Given the description of an element on the screen output the (x, y) to click on. 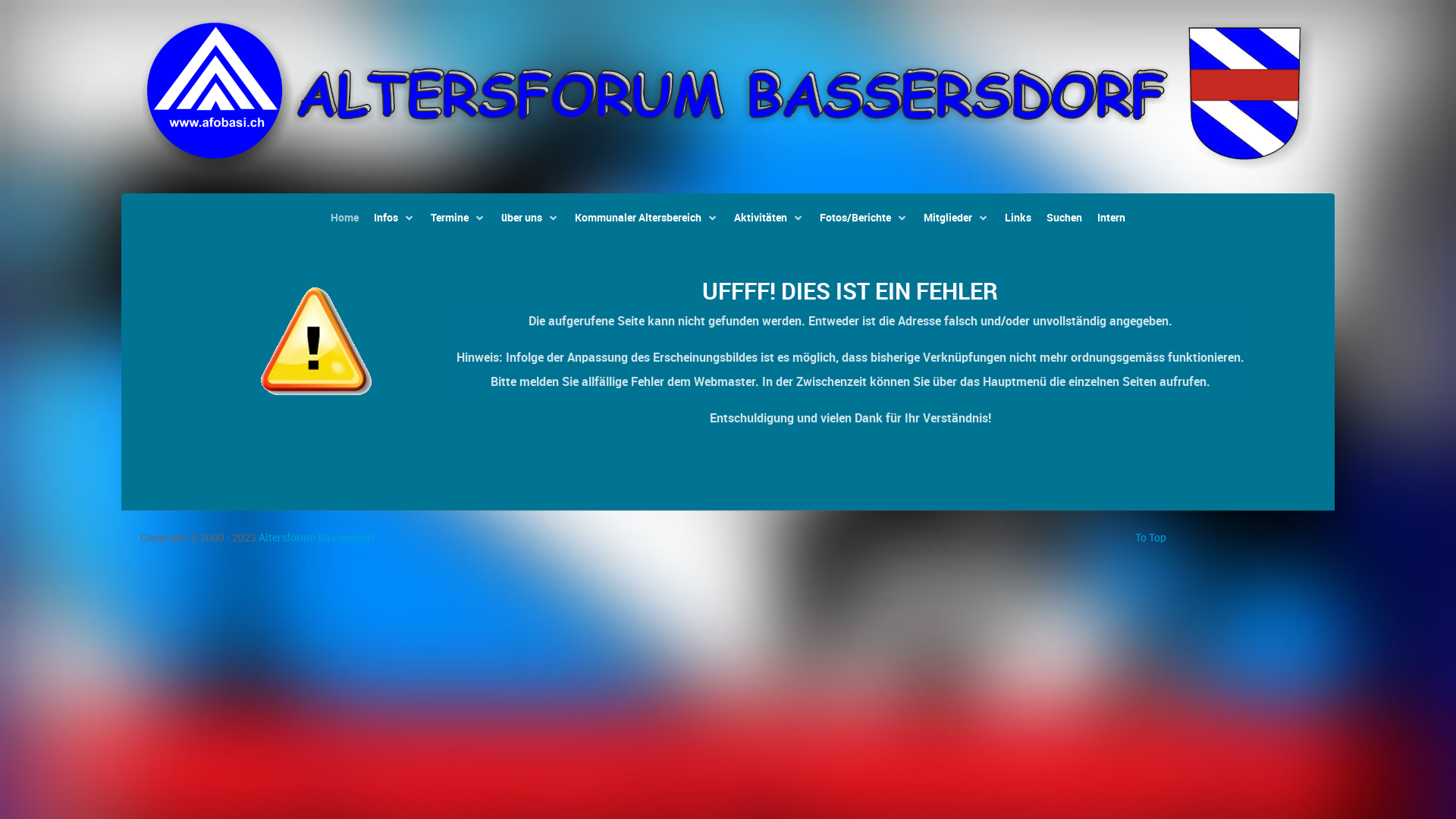
To Top Element type: text (1150, 537)
Kommunaler Altersbereich Element type: text (646, 218)
Intern Element type: text (1111, 217)
Infos Element type: text (394, 218)
Termine Element type: text (458, 218)
Mitglieder Element type: text (956, 218)
Links Element type: text (1017, 217)
Suchen Element type: text (1064, 217)
Altersforum Bassersdorf Element type: text (316, 537)
Home Element type: text (344, 217)
Fotos/Berichte Element type: text (863, 218)
